Given the description of an element on the screen output the (x, y) to click on. 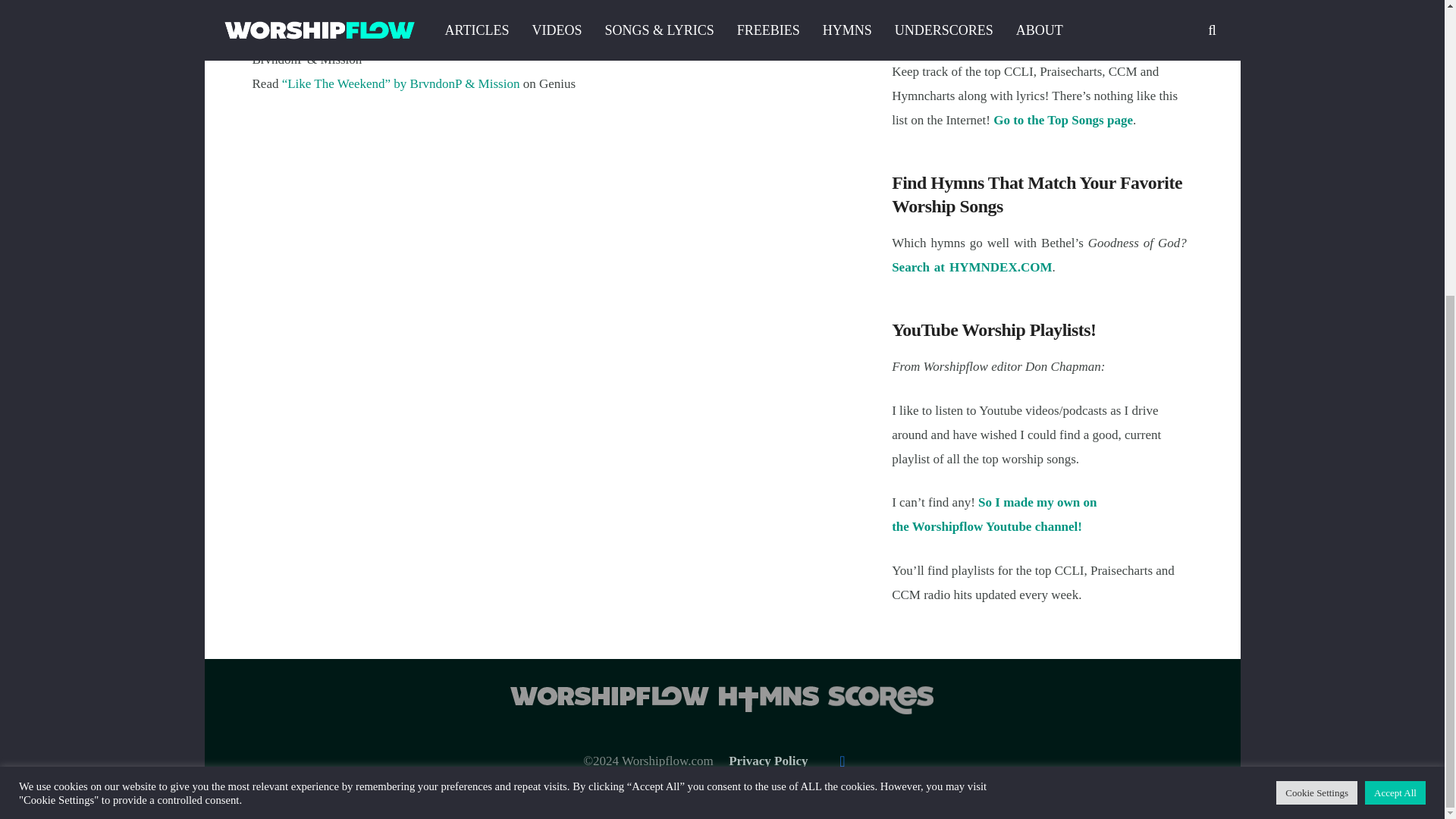
So I made my own on the Worshipflow Youtube channel! (993, 514)
Accept All (1395, 336)
Privacy Policy (768, 760)
Cookie Settings (1316, 336)
Search at HYMNDEX.COM (971, 267)
Facebook (842, 761)
Go to the Top Songs page (1062, 120)
